Given the description of an element on the screen output the (x, y) to click on. 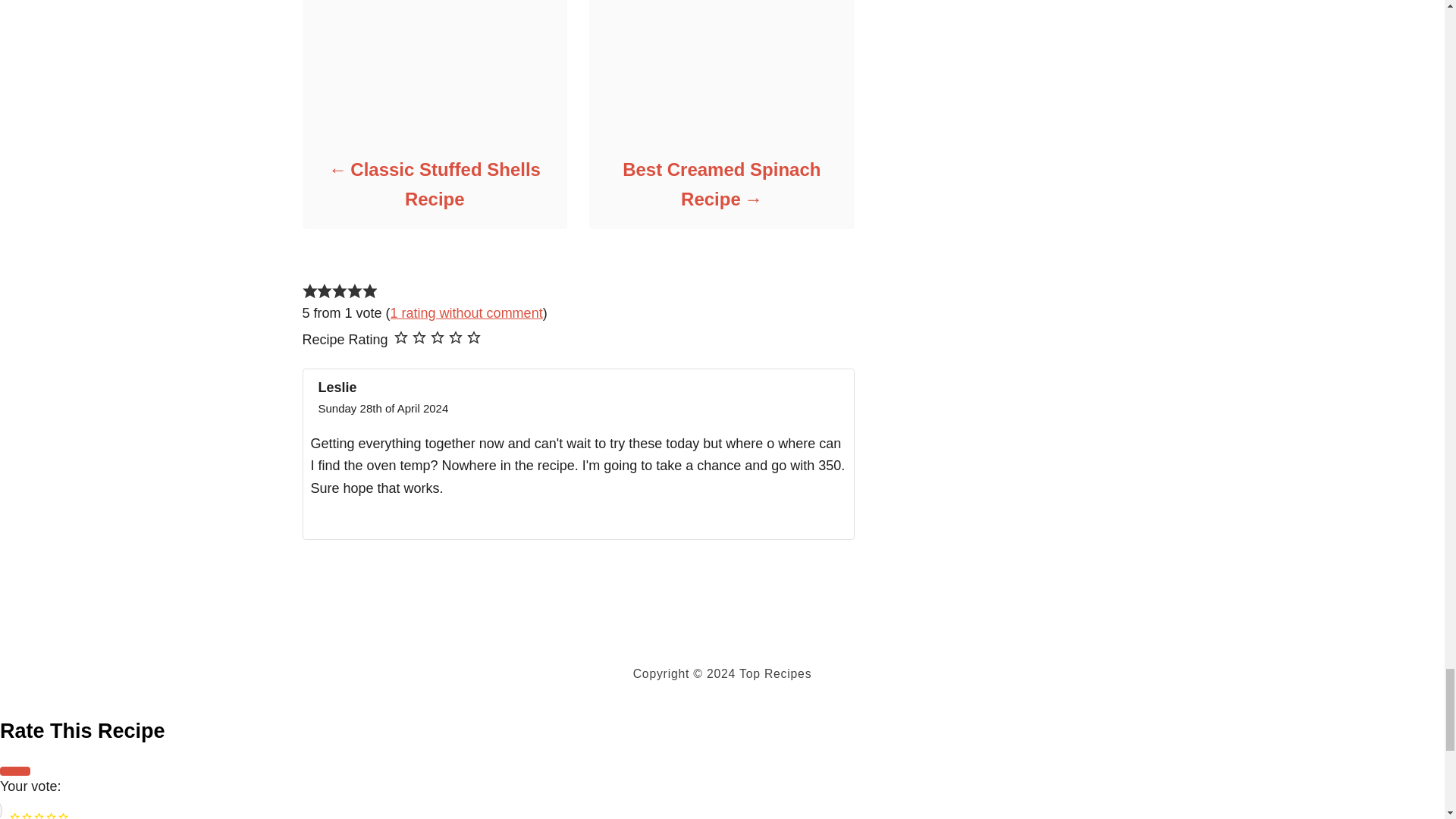
Classic Stuffed Shells Recipe (434, 183)
